Given the description of an element on the screen output the (x, y) to click on. 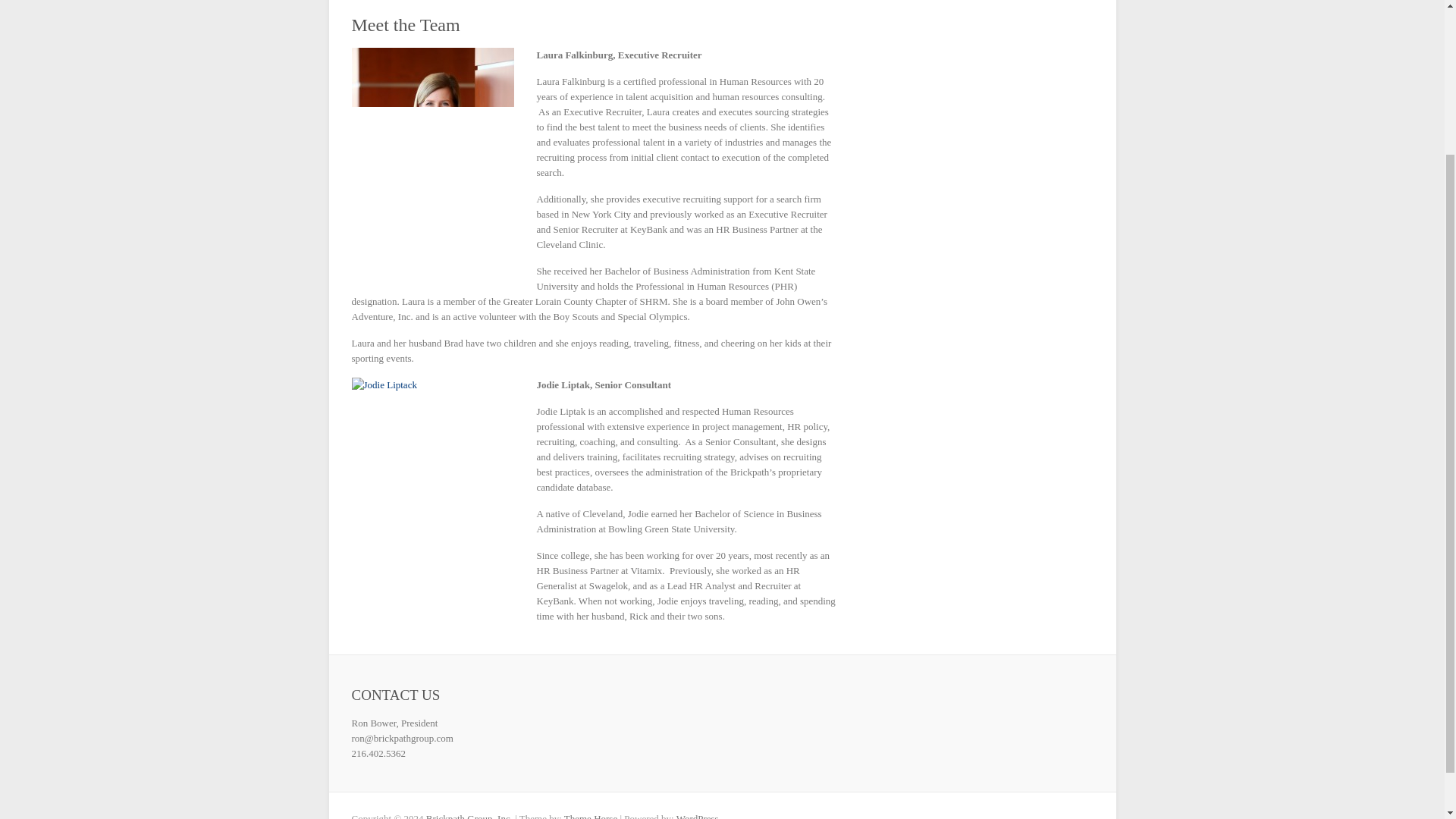
Back to Top (1423, 607)
